Given the description of an element on the screen output the (x, y) to click on. 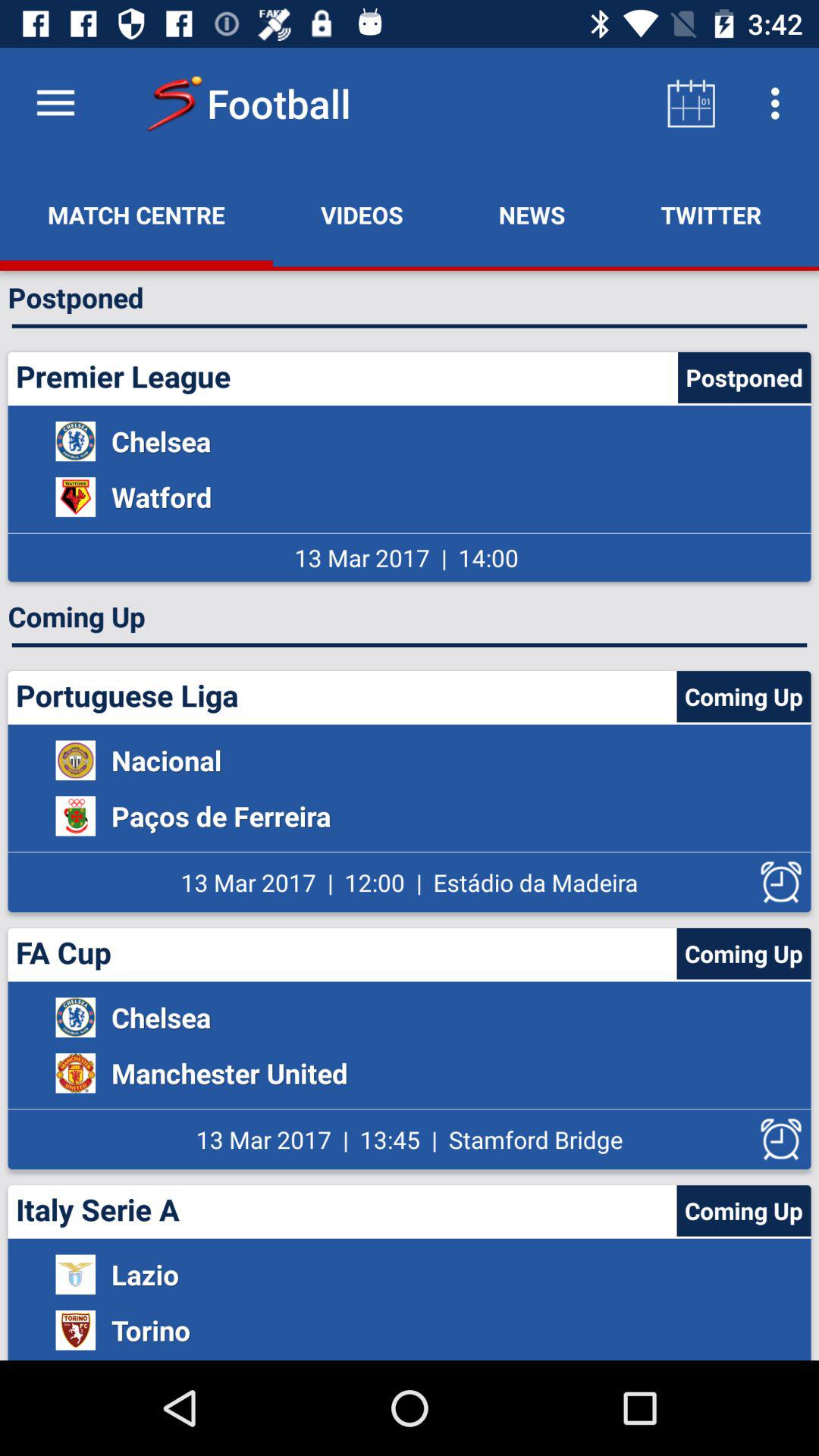
this option alarm (781, 882)
